Given the description of an element on the screen output the (x, y) to click on. 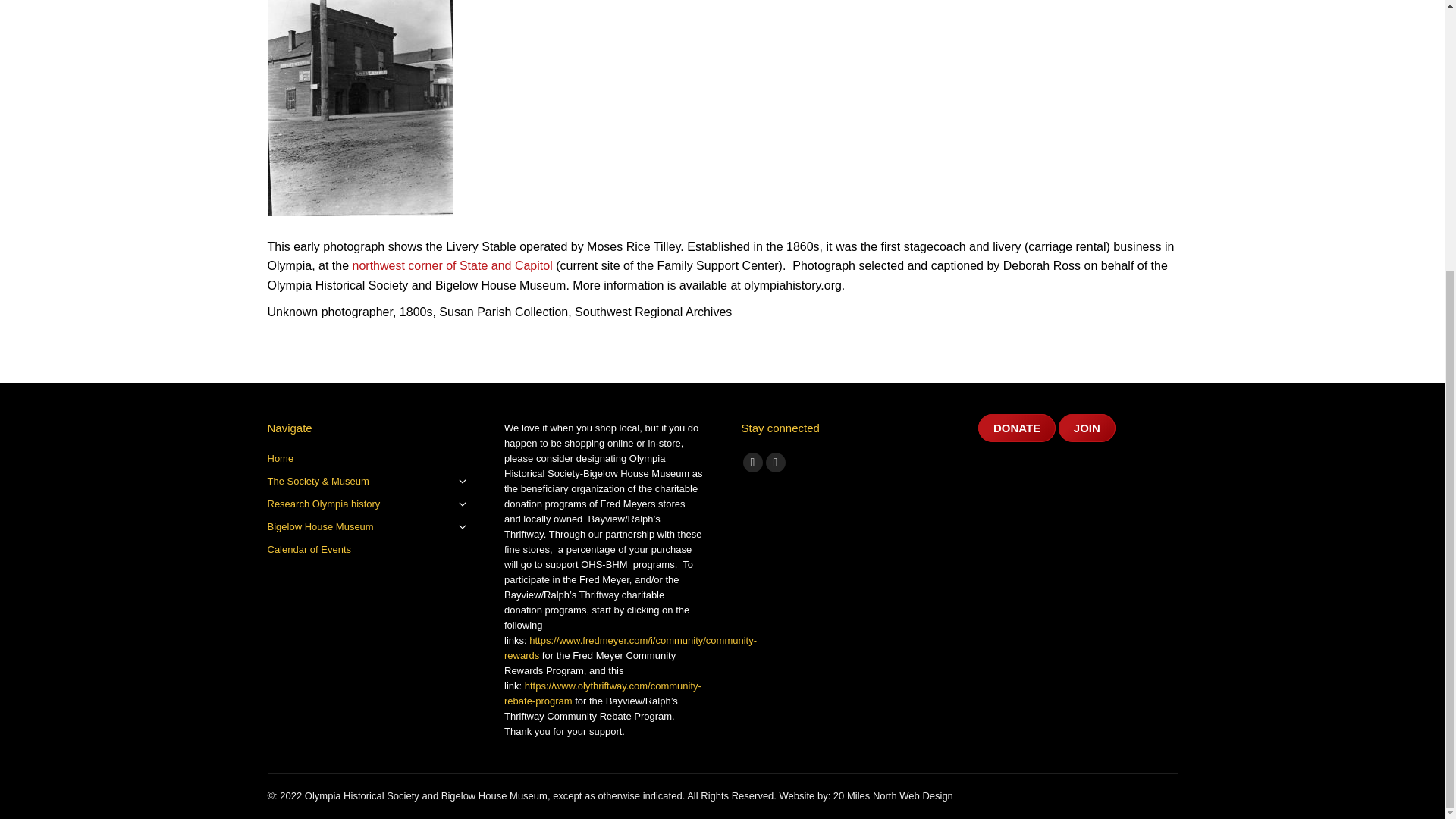
X page opens in new window (775, 462)
Facebook page opens in new window (752, 462)
